Given the description of an element on the screen output the (x, y) to click on. 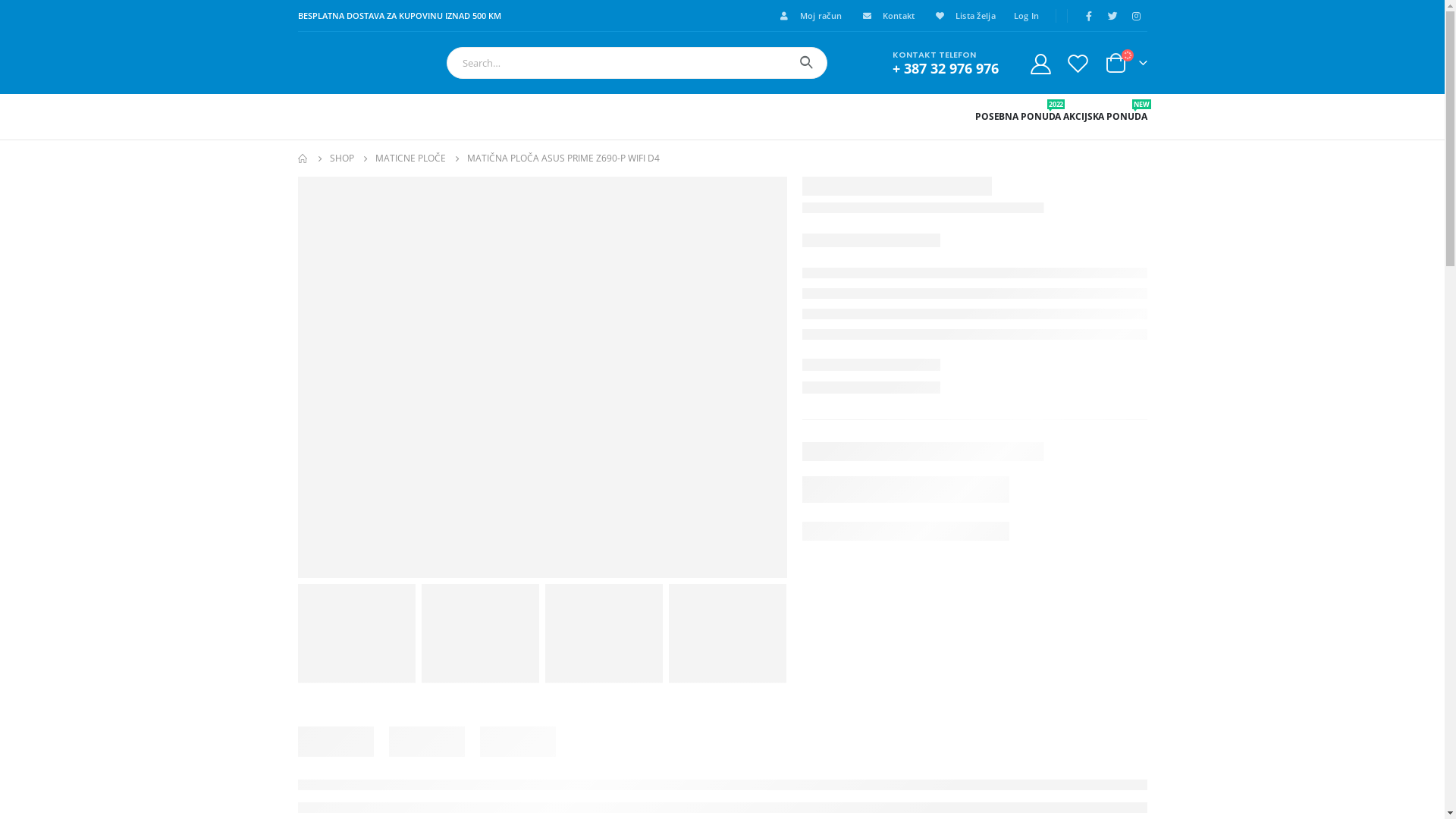
Facebook Element type: hover (1088, 15)
AKCIJSKA PONUDA
NEW Element type: text (1104, 116)
POSEBNA PONUDA
2022 Element type: text (1017, 116)
SHOP Element type: text (341, 158)
Log In Element type: text (1023, 15)
Go to Home Page Element type: hover (302, 158)
Kontakt Element type: text (883, 15)
My Account Element type: hover (1040, 63)
Wishlist Element type: hover (1077, 63)
Twitter Element type: hover (1112, 15)
Instagram Element type: hover (1135, 15)
Search Element type: hover (806, 62)
